Given the description of an element on the screen output the (x, y) to click on. 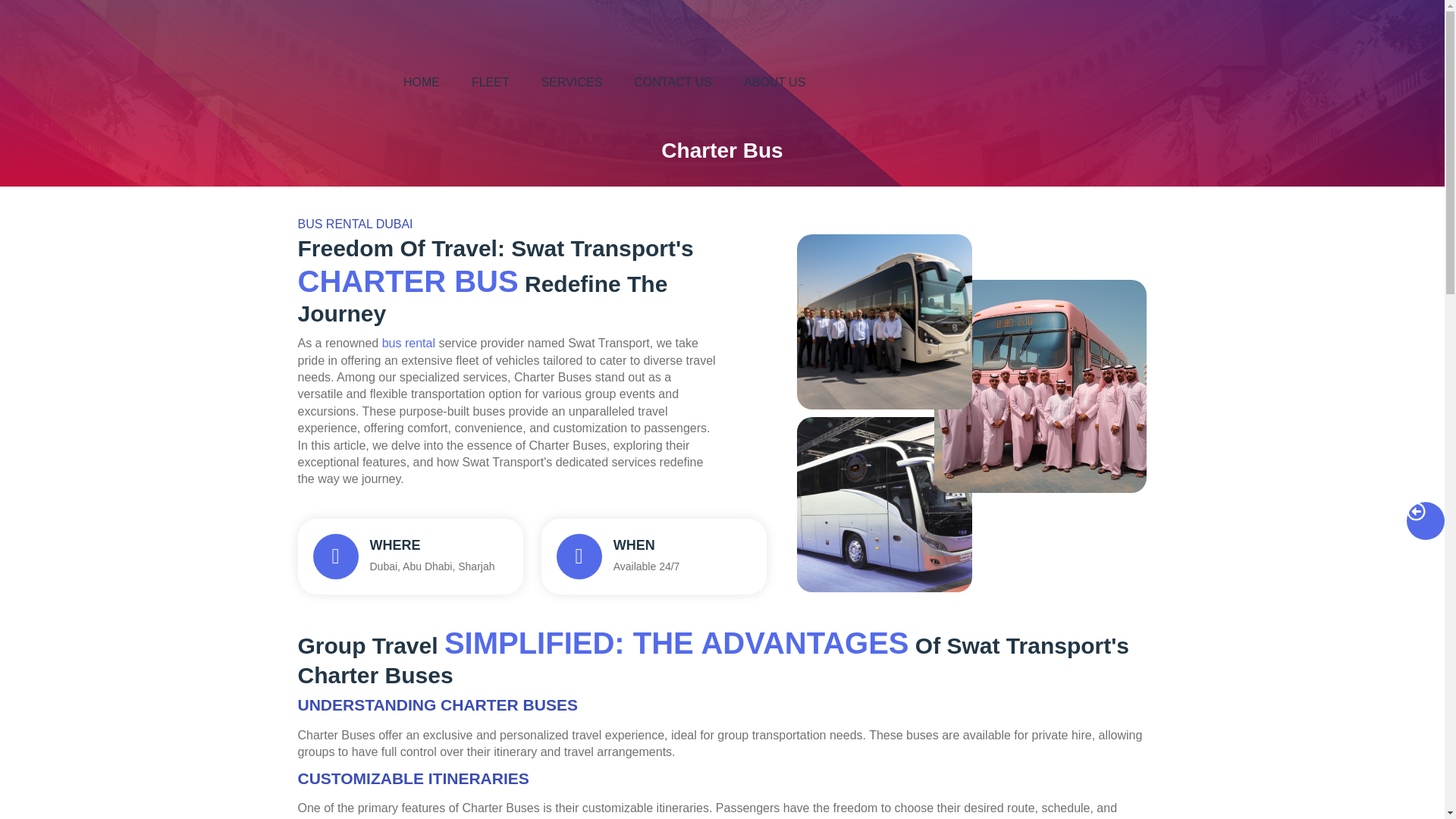
FLEET (490, 82)
BOOK NOW (1301, 82)
SERVICES (571, 82)
CONTACT US (673, 82)
HOME (421, 82)
ABOUT US (409, 556)
bus rental (774, 82)
